Given the description of an element on the screen output the (x, y) to click on. 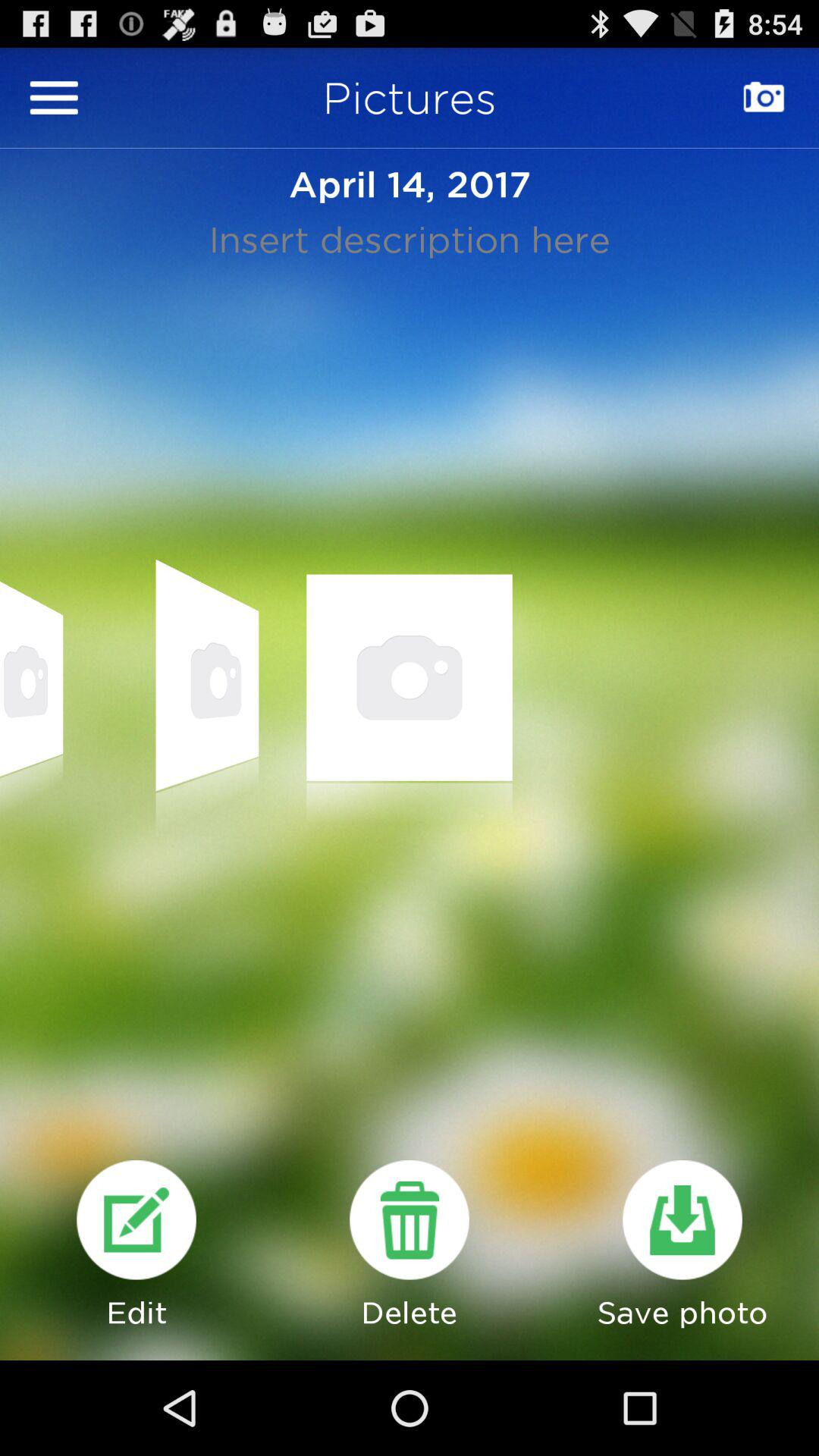
edit the article (136, 1219)
